Given the description of an element on the screen output the (x, y) to click on. 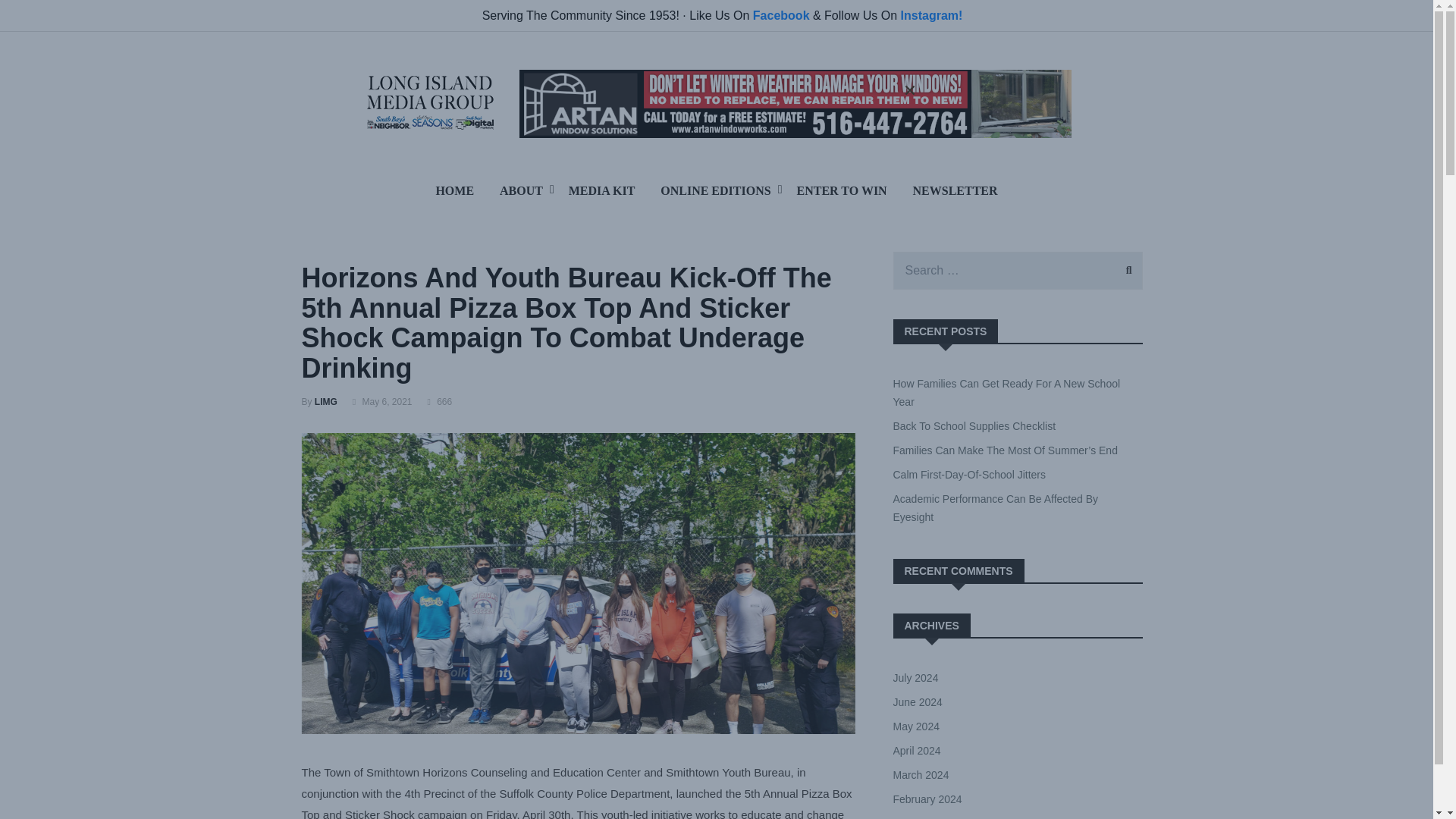
Facebook (780, 15)
HOME (453, 190)
LIMG (325, 401)
ABOUT (520, 190)
ONLINE EDITIONS (715, 190)
NEWSLETTER (955, 190)
Instagram! (931, 15)
MEDIA KIT (601, 190)
ENTER TO WIN (842, 190)
